Given the description of an element on the screen output the (x, y) to click on. 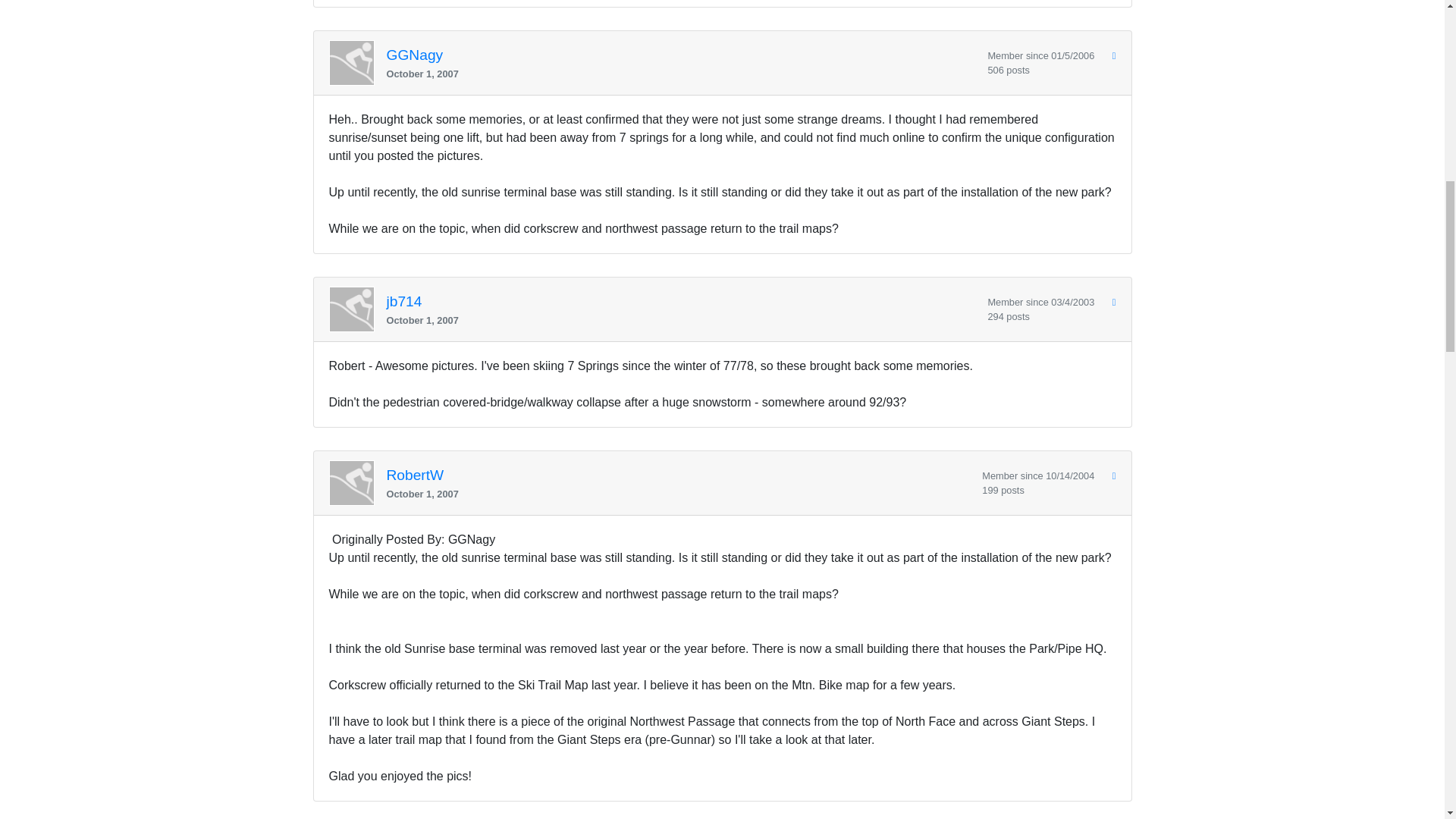
GGNagy (415, 55)
jb714 (404, 301)
RobertW (415, 475)
October 1, 2007 at 04:27 pm (679, 493)
October 1, 2007 at 12:56 pm (681, 73)
October 1, 2007 at 12:56 pm (681, 319)
